Given the description of an element on the screen output the (x, y) to click on. 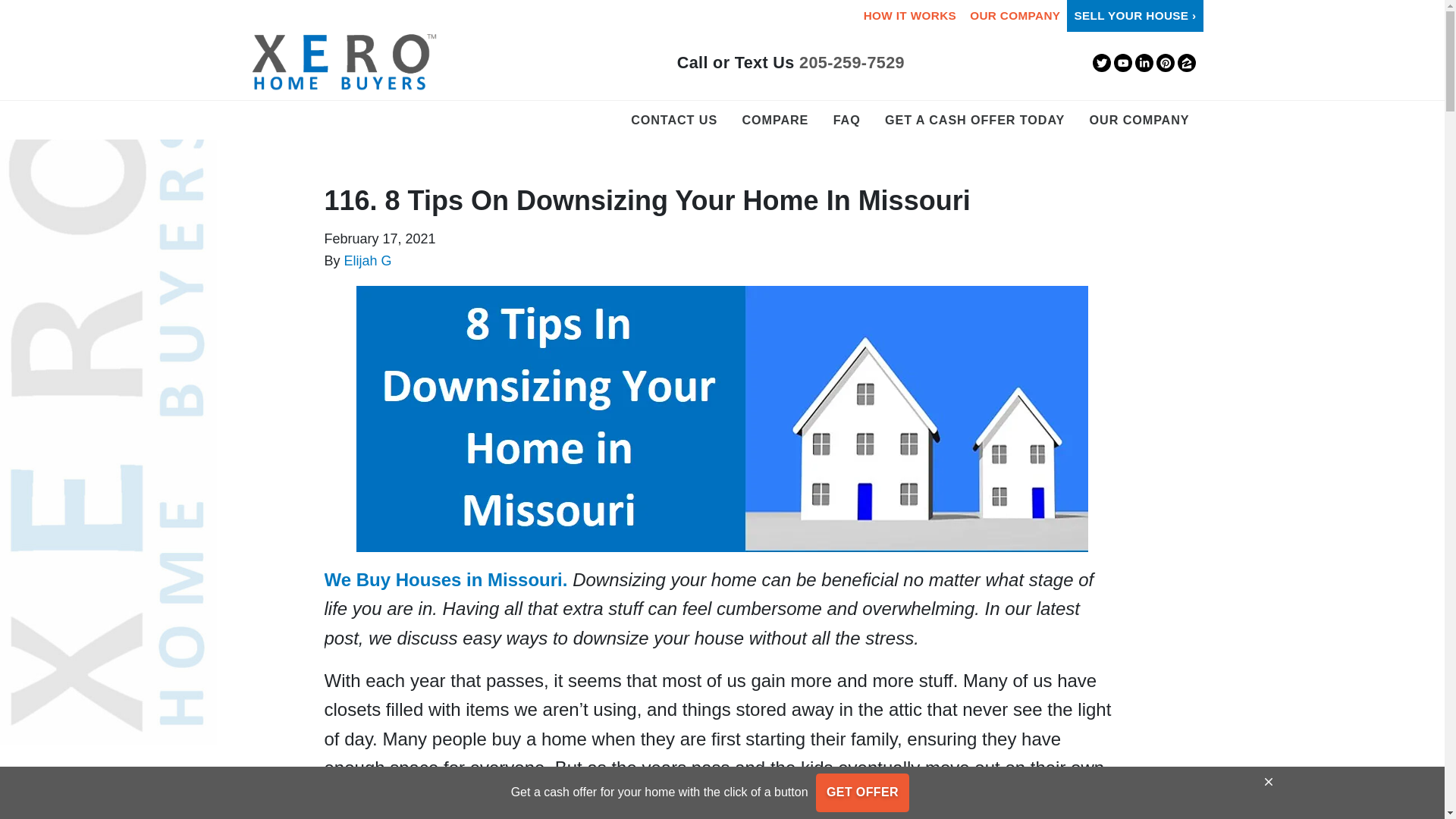
Zillow (1186, 63)
GET A CASH OFFER TODAY (974, 119)
Contact Us (673, 119)
We Buy Houses in Missouri. (445, 579)
OUR COMPANY (1139, 119)
LinkedIn (1144, 63)
Get A Cash Offer Today (974, 119)
HOW IT WORKS (909, 15)
Pinterest (1165, 63)
Elijah G (367, 260)
